Given the description of an element on the screen output the (x, y) to click on. 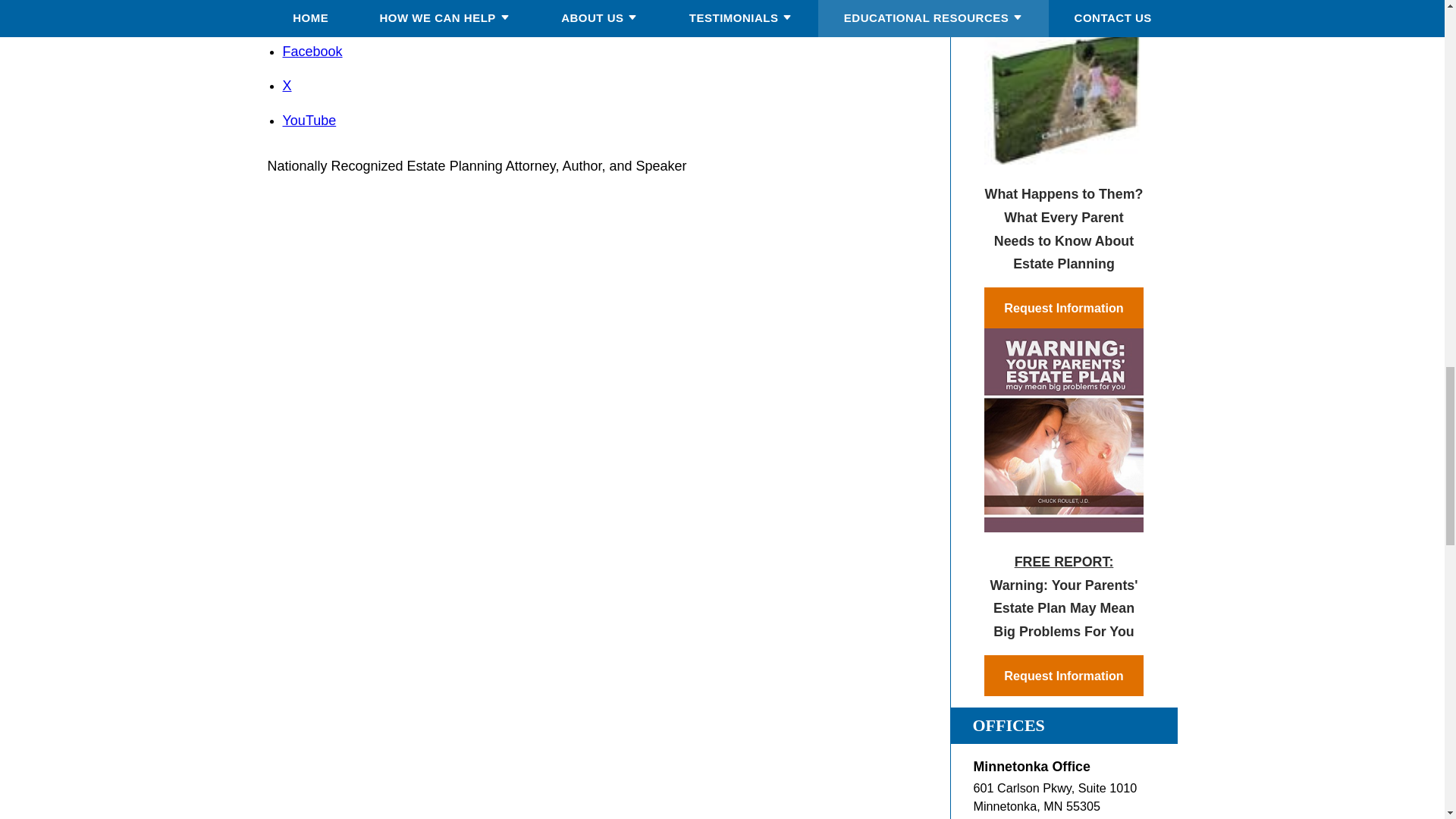
Facebook (312, 51)
YouTube (309, 120)
Find me on Facebook (312, 51)
Watch me on YouTube (309, 120)
